Given the description of an element on the screen output the (x, y) to click on. 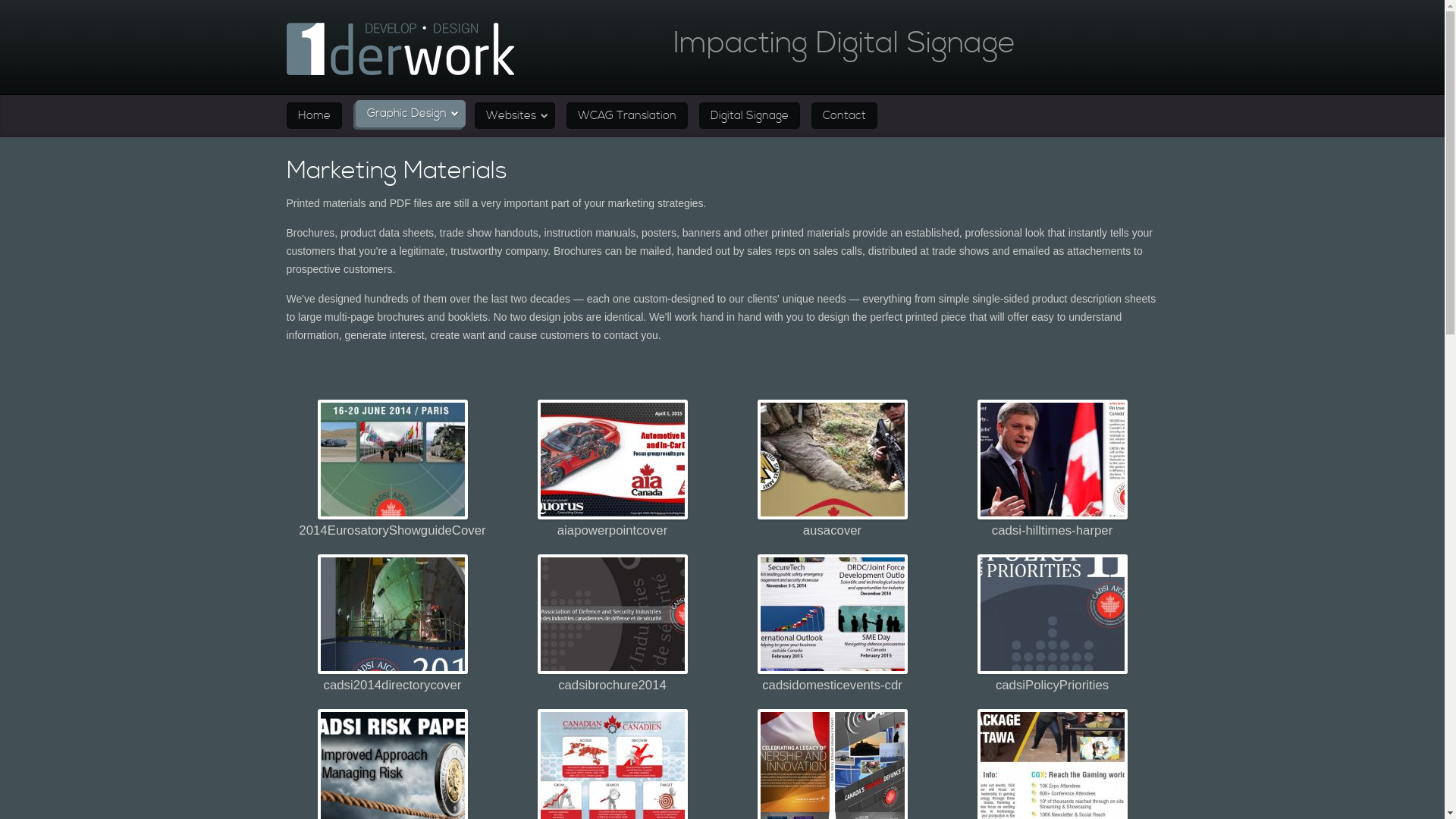
WCAG Translation Element type: text (626, 115)
cadsiPolicyPriorities Element type: hover (1051, 614)
cadsi2014directorycover Element type: hover (392, 614)
2014EurosatoryShowguideCover Element type: hover (392, 459)
ausacover Element type: hover (831, 459)
Digital Signage Element type: text (749, 115)
Home Element type: text (314, 115)
cadsidomesticevents-cdr Element type: hover (831, 614)
Contact Element type: text (844, 115)
aiapowerpointcover Element type: hover (611, 459)
Graphic Design Element type: text (409, 113)
cadsi-hilltimes-harper Element type: hover (1051, 459)
Websites Element type: text (514, 115)
cadsibrochure2014 Element type: hover (611, 614)
